Given the description of an element on the screen output the (x, y) to click on. 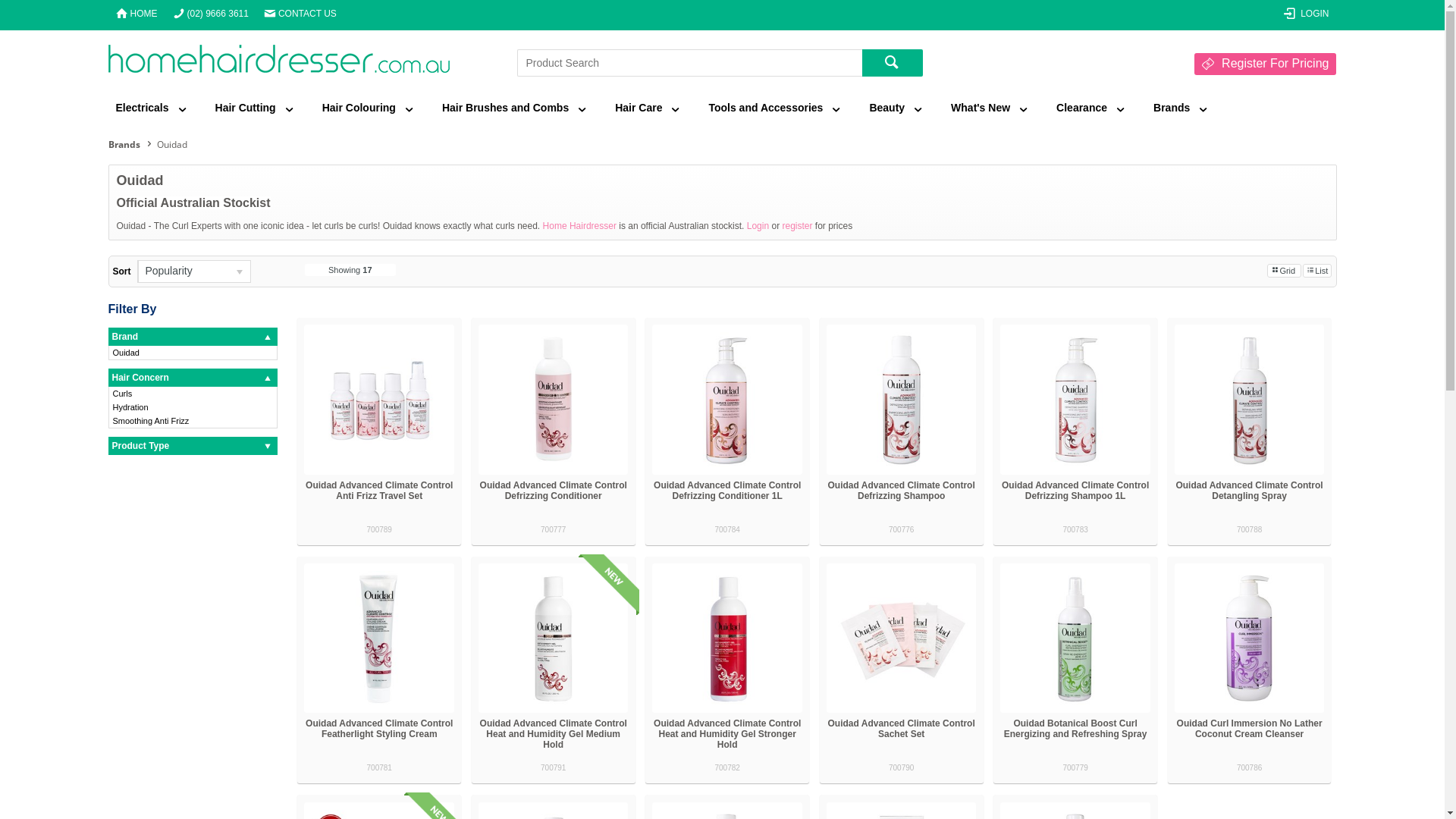
Ouidad Botanical Boost Curl Energizing and Refreshing Spray Element type: text (1075, 728)
Ouidad Advanced Climate Control Defrizzing Conditioner Element type: text (553, 490)
CONTACT US Element type: text (300, 15)
Ouidad Advanced Climate Control Detangling Spray Element type: hover (1249, 398)
Ouidad Advanced Climate Control Anti Frizz Travel Set Element type: hover (378, 398)
Ouidad Advanced Climate Control Featherlight Styling Cream Element type: text (378, 728)
LOGIN Element type: text (1305, 15)
Ouidad Botanical Boost Curl Energizing and Refreshing Spray Element type: hover (1074, 637)
Ouidad Advanced Climate Control Defrizzing Conditioner 1L Element type: hover (726, 398)
Clearance Element type: text (1089, 109)
Ouidad Advanced Climate Control Defrizzing Shampoo Element type: text (901, 490)
(02) 9666 3611 Element type: text (210, 15)
Ouidad Advanced Climate Control Detangling Spray Element type: text (1248, 490)
home Hairdresser Supply Element type: hover (277, 62)
Brands Element type: text (1179, 109)
Smoothing Anti Frizz Element type: text (192, 420)
Home Hairdresser Element type: text (579, 225)
Ouidad Advanced Climate Control Anti Frizz Travel Set Element type: text (378, 490)
Hair Cutting Element type: text (253, 109)
Beauty Element type: text (894, 109)
register Element type: text (796, 225)
Tools and Accessories Element type: text (773, 109)
Electricals Element type: text (151, 109)
Ouidad Element type: text (192, 352)
Ouidad Advanced Climate Control Defrizzing Shampoo 1L Element type: hover (1074, 398)
Ouidad Curl Immersion No Lather Coconut Cream Cleanser Element type: hover (1249, 637)
Login Element type: text (757, 225)
Register For Pricing Element type: text (1265, 64)
hair supplies Element type: hover (277, 58)
Ouidad Advanced Climate Control Defrizzing Conditioner Element type: hover (552, 398)
Ouidad Advanced Climate Control Sachet Set Element type: hover (900, 637)
Hydration Element type: text (192, 407)
Ouidad Advanced Climate Control Defrizzing Shampoo 1L Element type: text (1074, 490)
Ouidad Advanced Climate Control Featherlight Styling Cream Element type: hover (378, 637)
Curls Element type: text (192, 393)
Hair Brushes and Combs Element type: text (513, 109)
Ouidad Advanced Climate Control Defrizzing Shampoo Element type: hover (900, 398)
What's New Element type: text (988, 109)
Hair Colouring Element type: text (366, 109)
Hair Care Element type: text (646, 109)
Brands Element type: text (131, 144)
Ouidad Curl Immersion No Lather Coconut Cream Cleanser Element type: text (1249, 728)
Ouidad Advanced Climate Control Defrizzing Conditioner 1L Element type: text (726, 490)
Ouidad Advanced Climate Control Sachet Set Element type: text (901, 728)
